Given the description of an element on the screen output the (x, y) to click on. 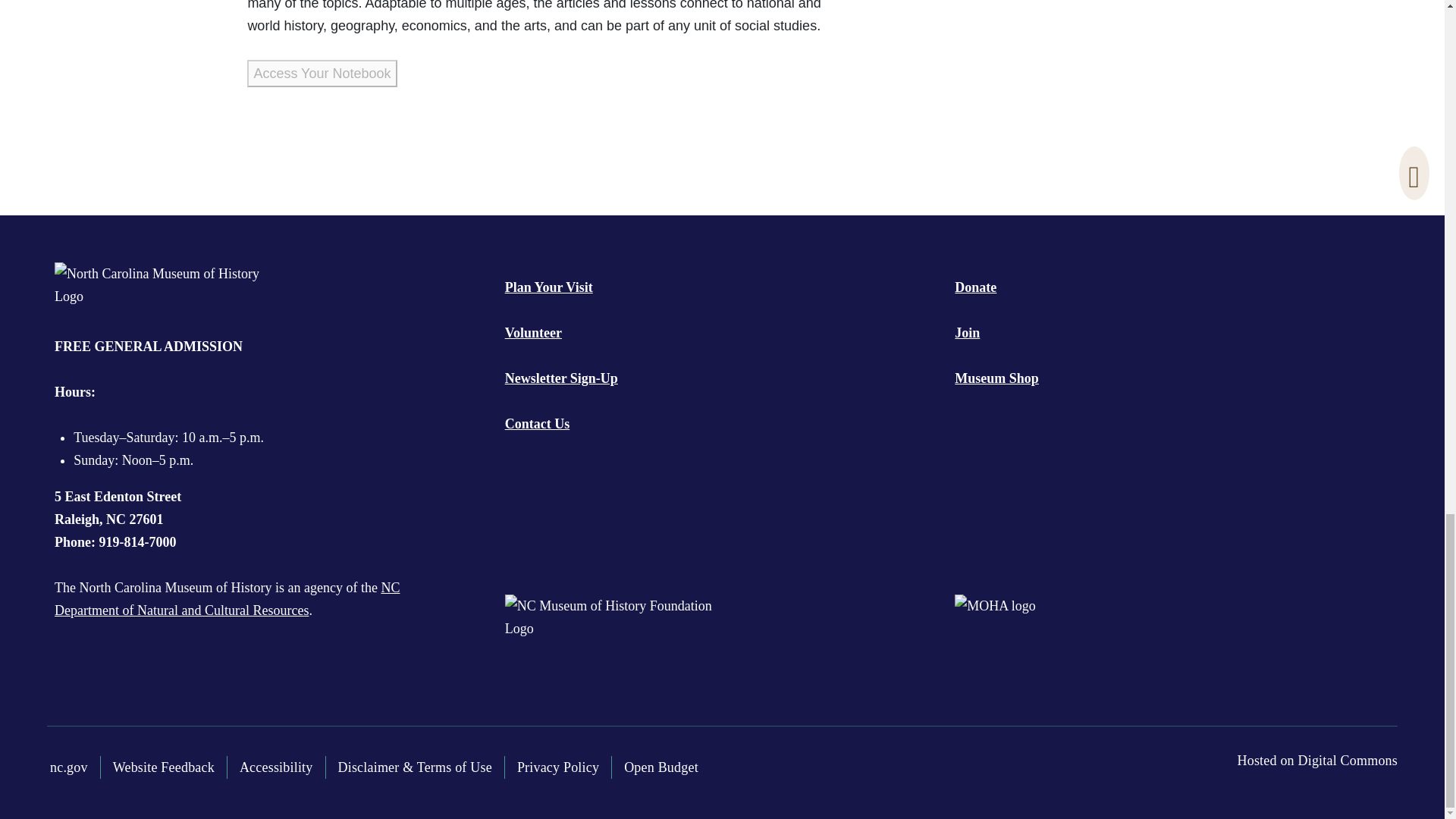
Accessibility of State of North Carolina Websites (276, 766)
State of North Carolina Privacy Policy (558, 766)
State of North Carolina Open Budget (660, 766)
Website User Feedback Form (163, 766)
Terms of Use (415, 766)
The State of North Carolina (68, 766)
